Given the description of an element on the screen output the (x, y) to click on. 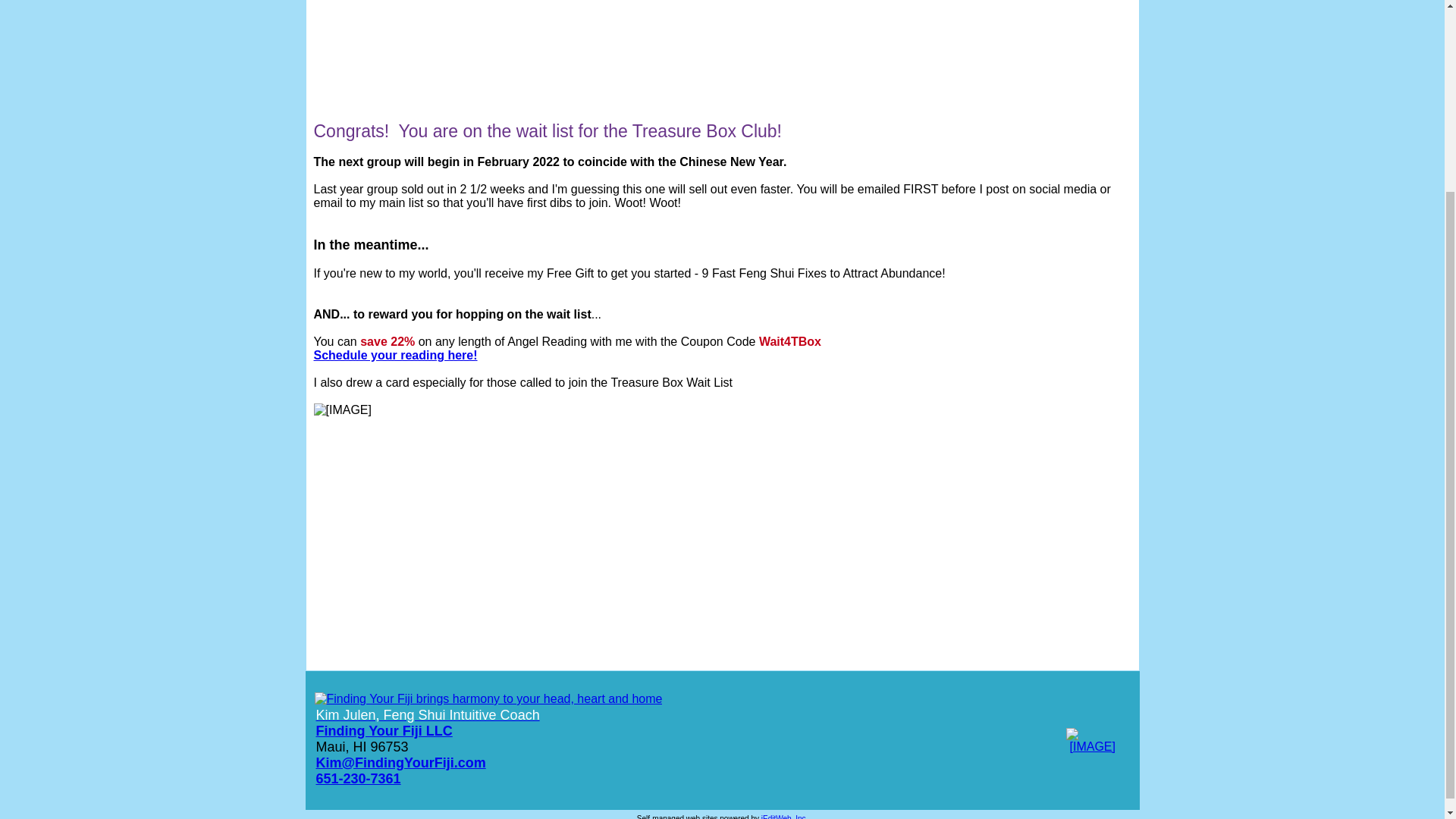
651-230-7361 (357, 778)
Schedule your reading here! (571, 361)
Kim Julen, Feng Shui Intuitive Coach (426, 714)
Finding Your Fiji LLC (383, 730)
